Given the description of an element on the screen output the (x, y) to click on. 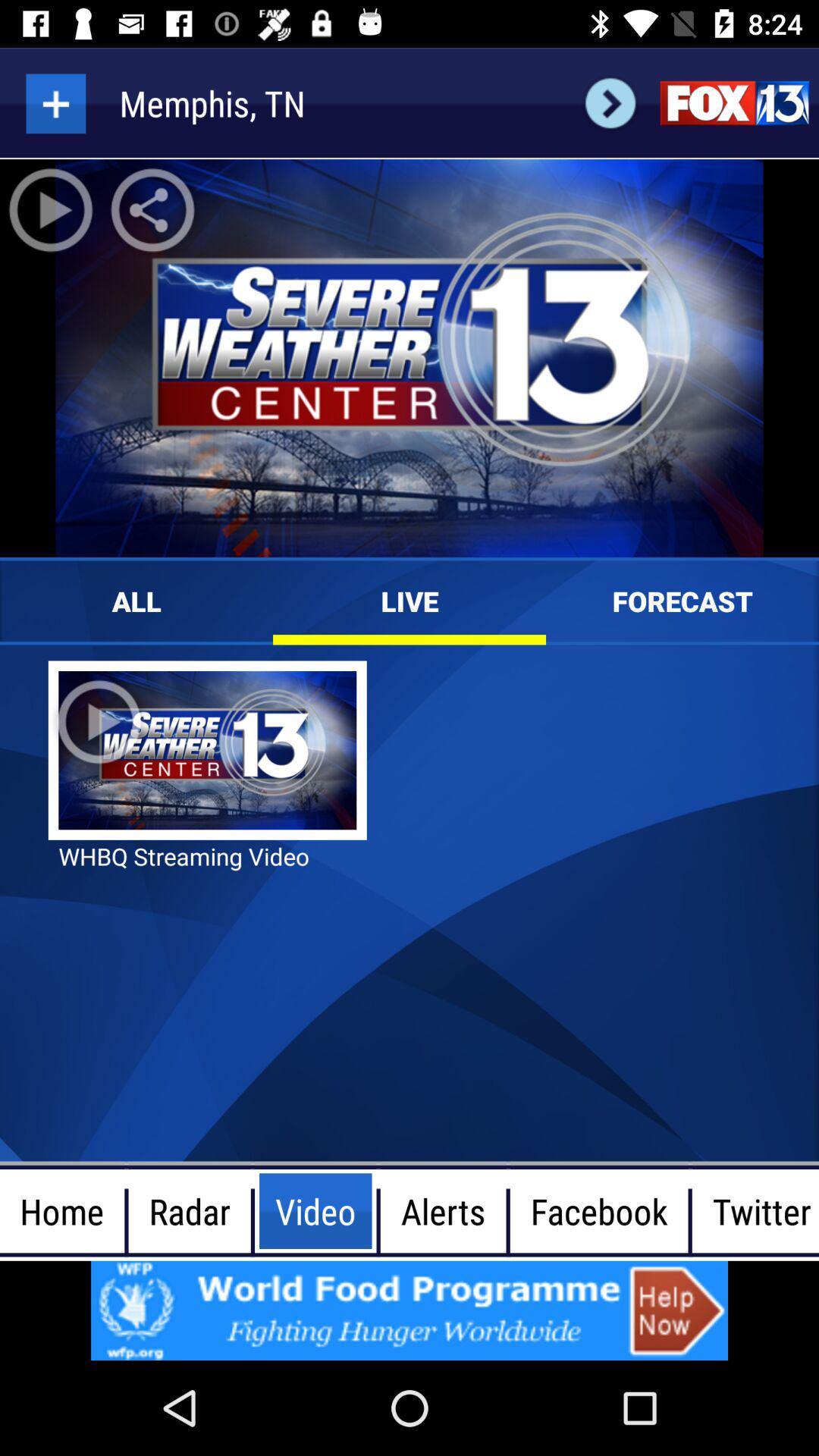
go to fox 13 (734, 103)
